Given the description of an element on the screen output the (x, y) to click on. 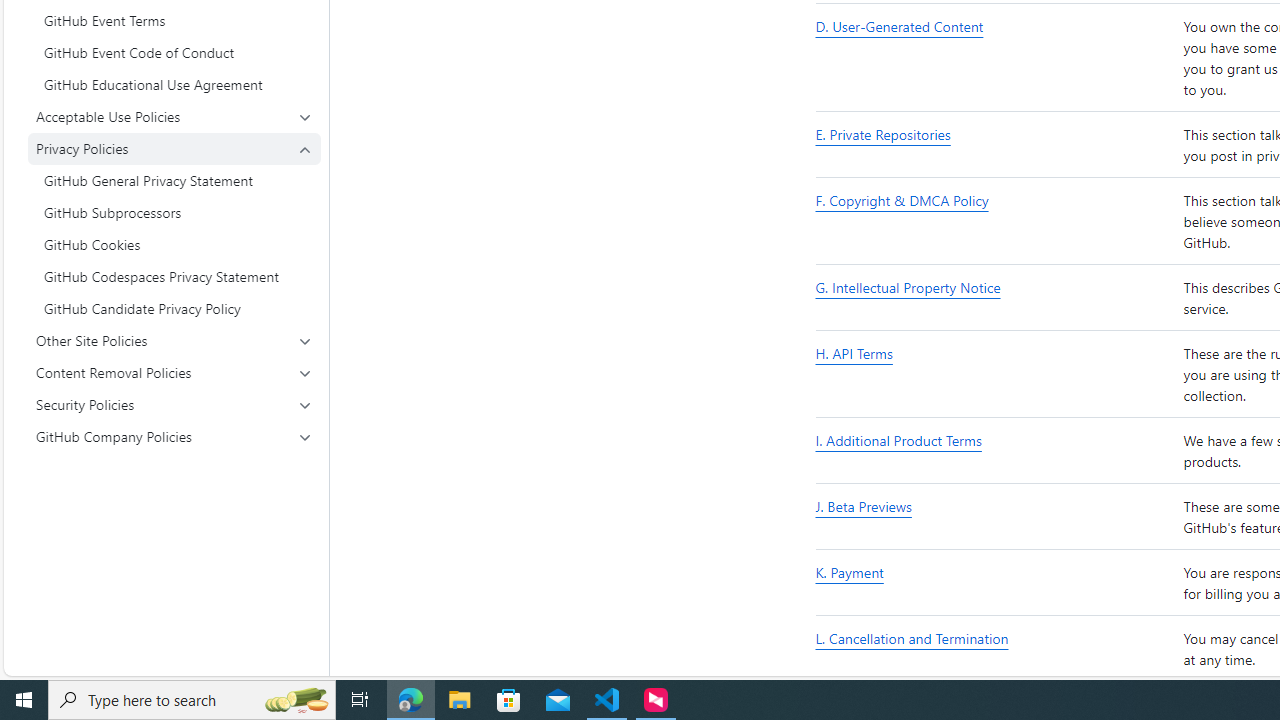
GitHub Candidate Privacy Policy (174, 308)
E. Private Repositories (995, 145)
F. Copyright & DMCA Policy (995, 221)
F. Copyright & DMCA Policy (902, 200)
GitHub Subprocessors (174, 212)
Privacy Policies (174, 228)
GitHub Educational Use Agreement (174, 84)
GitHub Event Terms (174, 20)
GitHub Codespaces Privacy Statement (174, 276)
D. User-Generated Content (995, 58)
GitHub Company Policies (174, 436)
H. API Terms (854, 354)
Content Removal Policies (174, 372)
GitHub Educational Use Agreement (174, 84)
H. API Terms (995, 375)
